Given the description of an element on the screen output the (x, y) to click on. 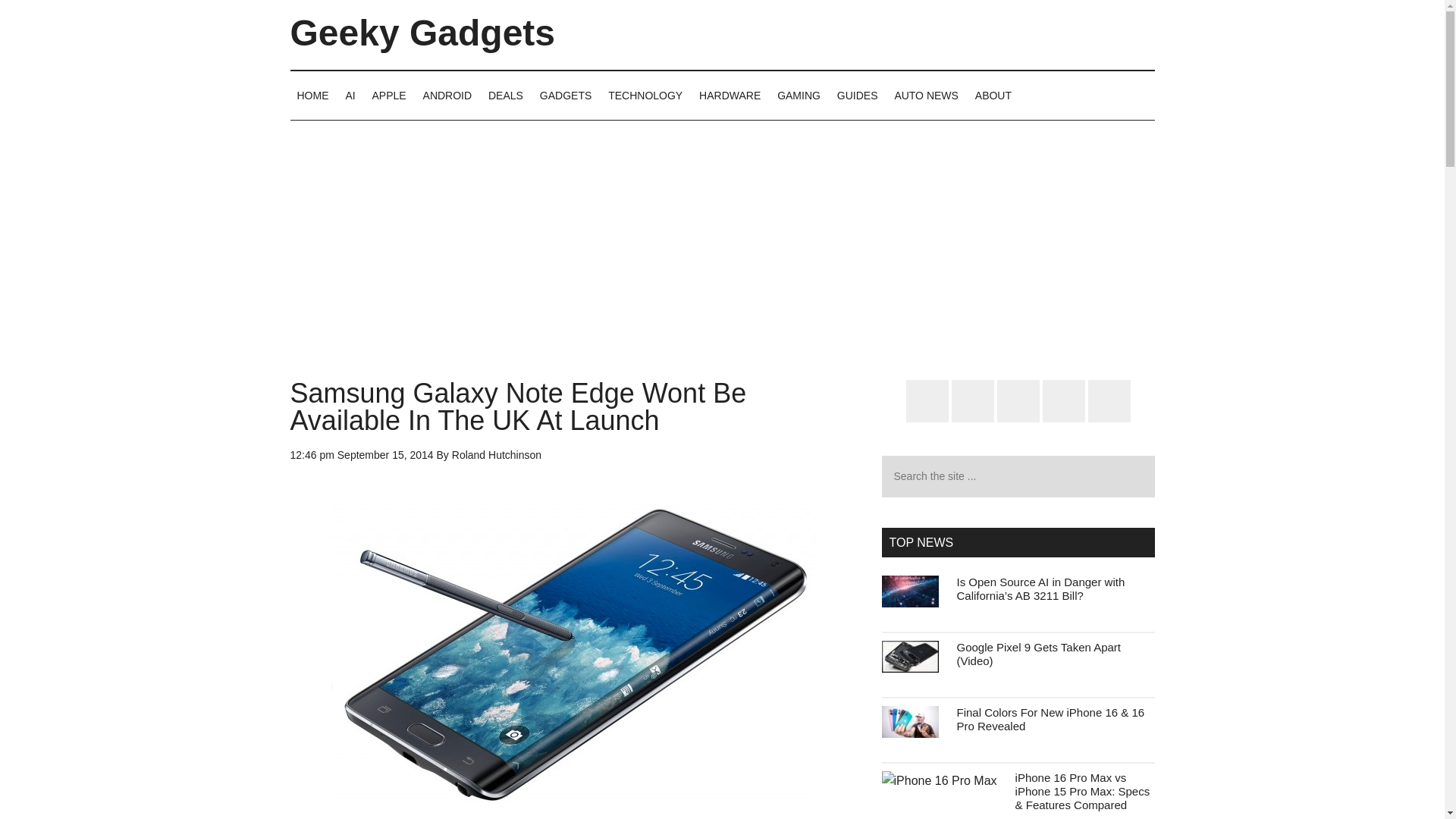
ANDROID (447, 95)
AUTO NEWS (925, 95)
TECHNOLOGY (644, 95)
APPLE (389, 95)
GUIDES (857, 95)
DEALS (505, 95)
Geeky Gadgets (421, 33)
Roland Hutchinson (496, 454)
